Given the description of an element on the screen output the (x, y) to click on. 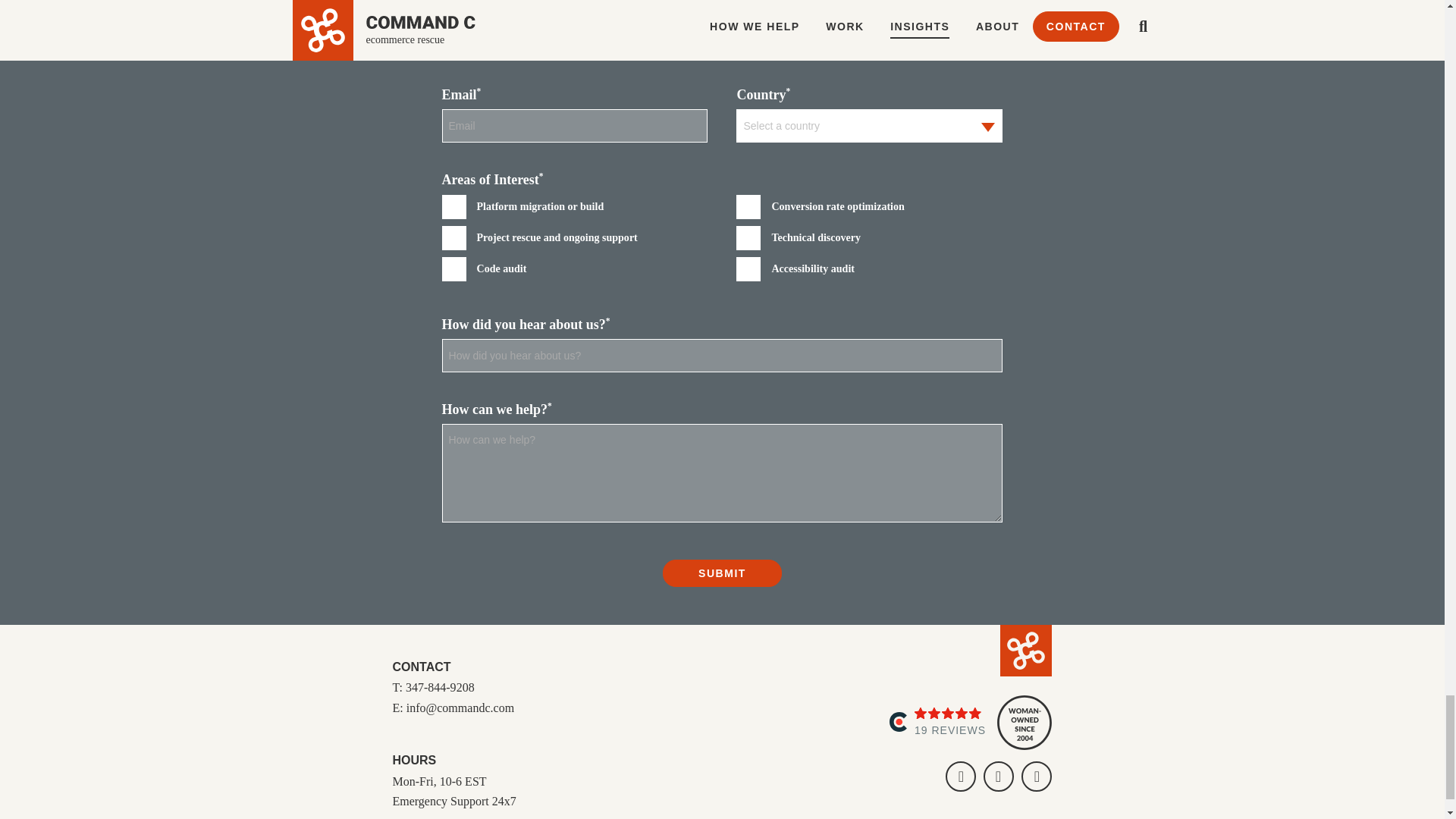
Command C on Facebook (998, 776)
Command C Clutch Review Widget 1 (937, 722)
Submit (721, 573)
Command C on LinkedIn (959, 776)
Command C on Twitter (1036, 776)
Command C - Home Link (1025, 650)
